Given the description of an element on the screen output the (x, y) to click on. 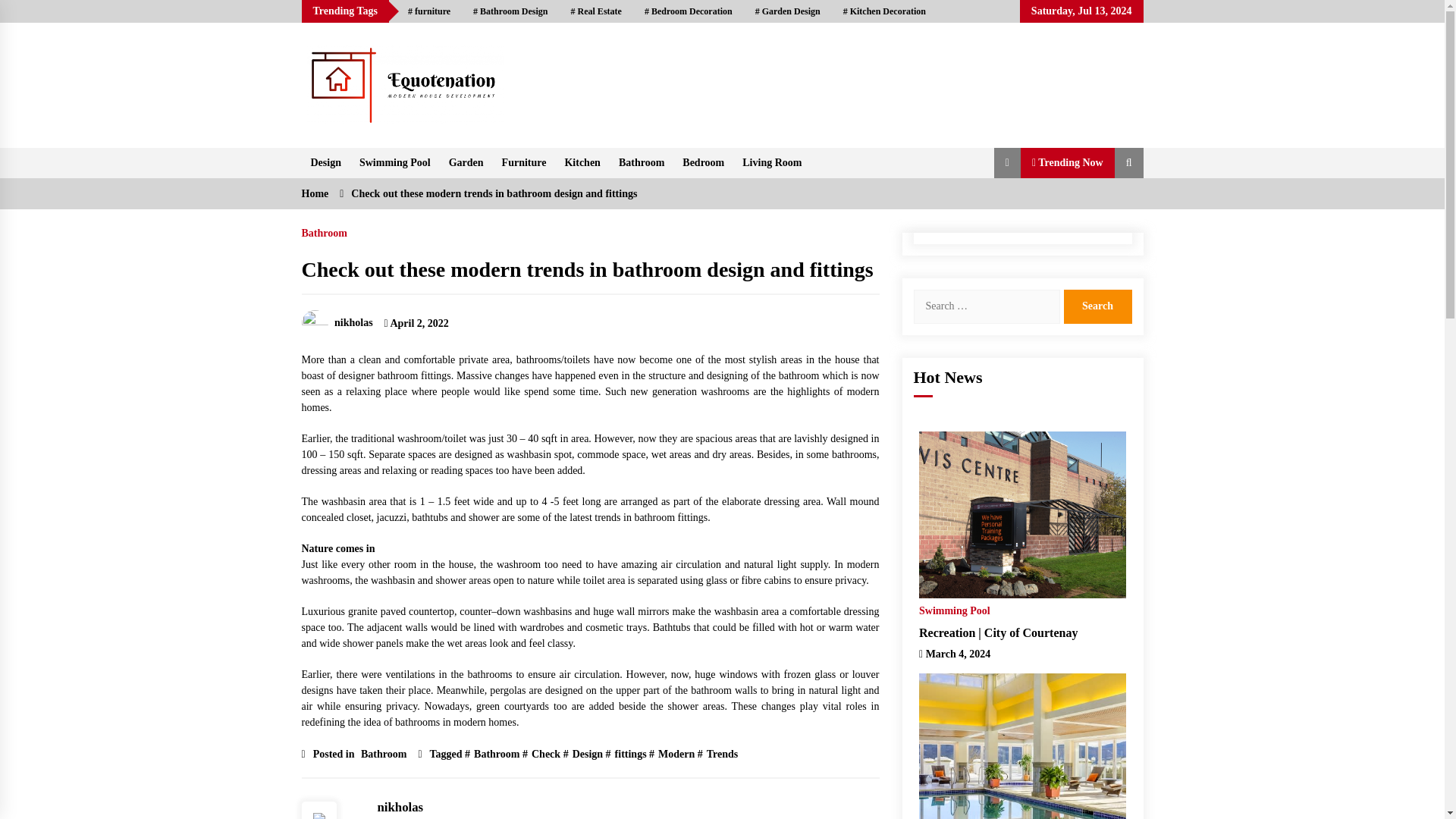
Furniture (524, 163)
Real Estate (596, 11)
Bedroom (702, 163)
Kitchen Decoration (884, 11)
Search (1096, 306)
Garden Design (787, 11)
Garden (466, 163)
Living Room (771, 163)
Bathroom Design (510, 11)
Bedroom Decoration (688, 11)
Bathroom (641, 163)
furniture (428, 11)
Swimming Pool (394, 163)
Kitchen (581, 163)
Search (1096, 306)
